Given the description of an element on the screen output the (x, y) to click on. 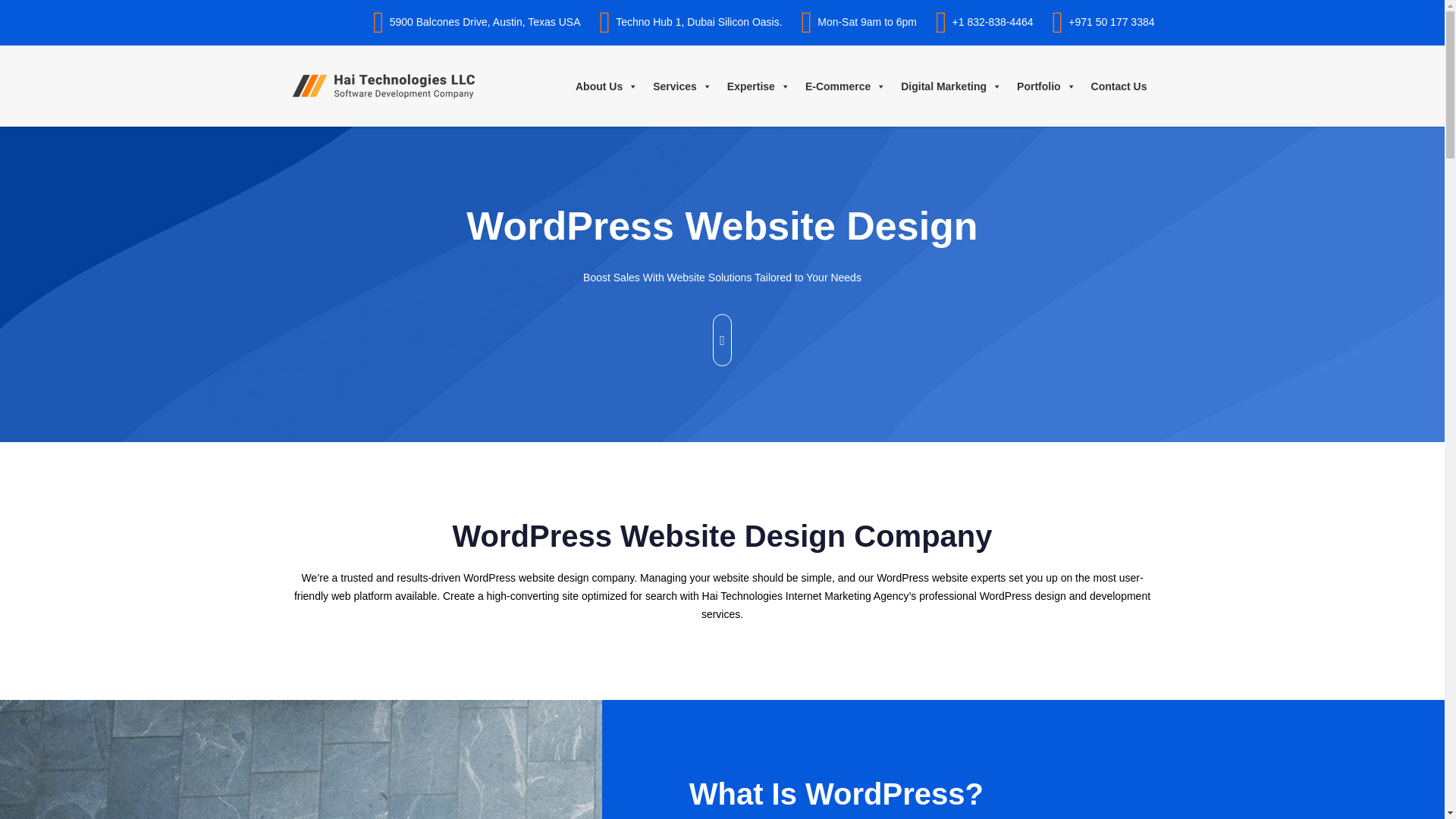
About Us (606, 86)
Expertise (758, 86)
Services (682, 86)
